Given the description of an element on the screen output the (x, y) to click on. 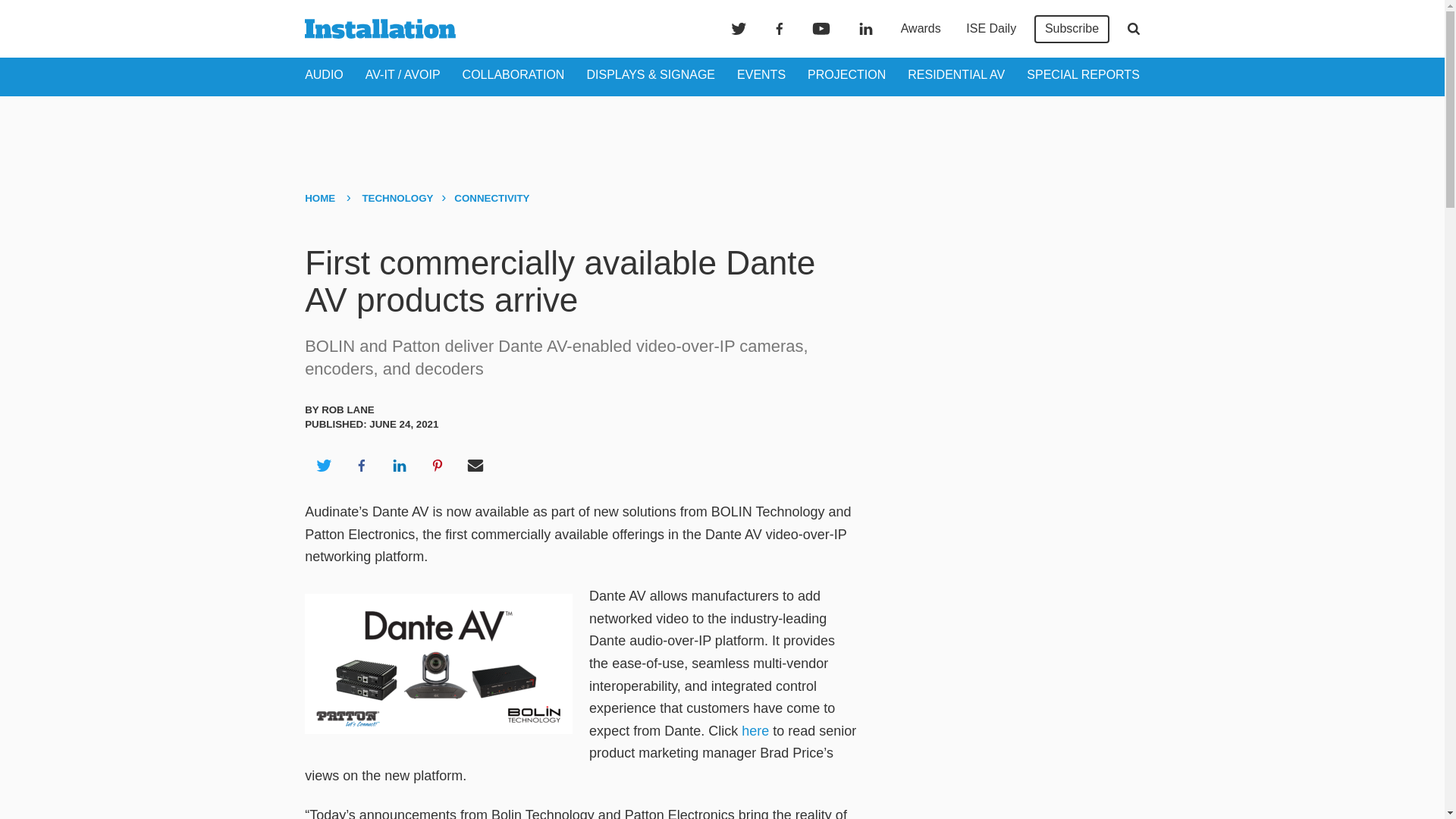
Share on Pinterest (438, 465)
ISE Daily (990, 29)
Subscribe (1071, 29)
Share on Facebook (361, 465)
Share on LinkedIn (399, 465)
AUDIO (323, 74)
Share via Email (476, 465)
COLLABORATION (513, 74)
Rob Lane's Author Profile (347, 409)
Share on Twitter (323, 465)
